Given the description of an element on the screen output the (x, y) to click on. 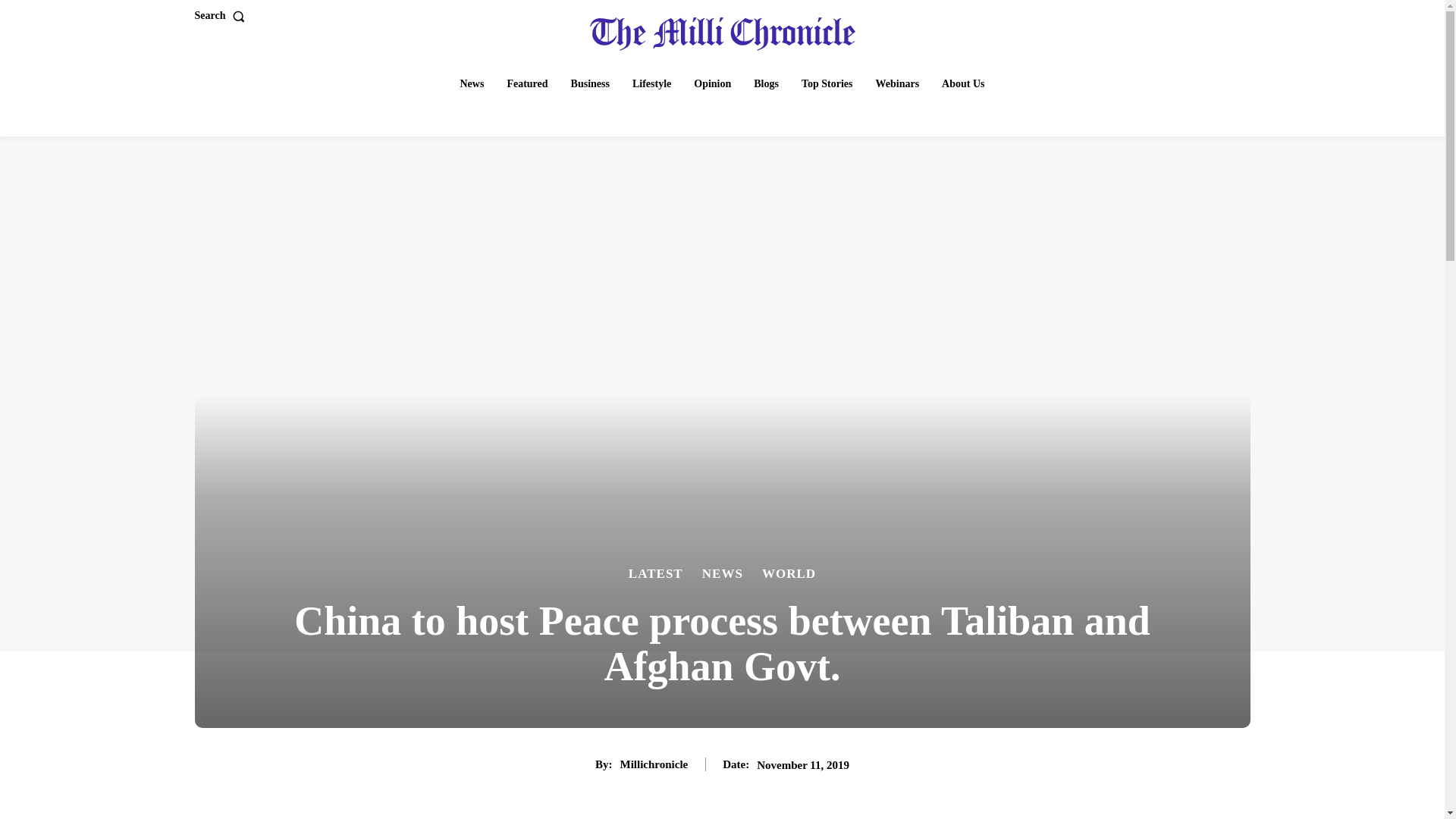
Lifestyle (651, 83)
Search (221, 15)
News (471, 83)
Business (590, 83)
Featured (526, 83)
